Given the description of an element on the screen output the (x, y) to click on. 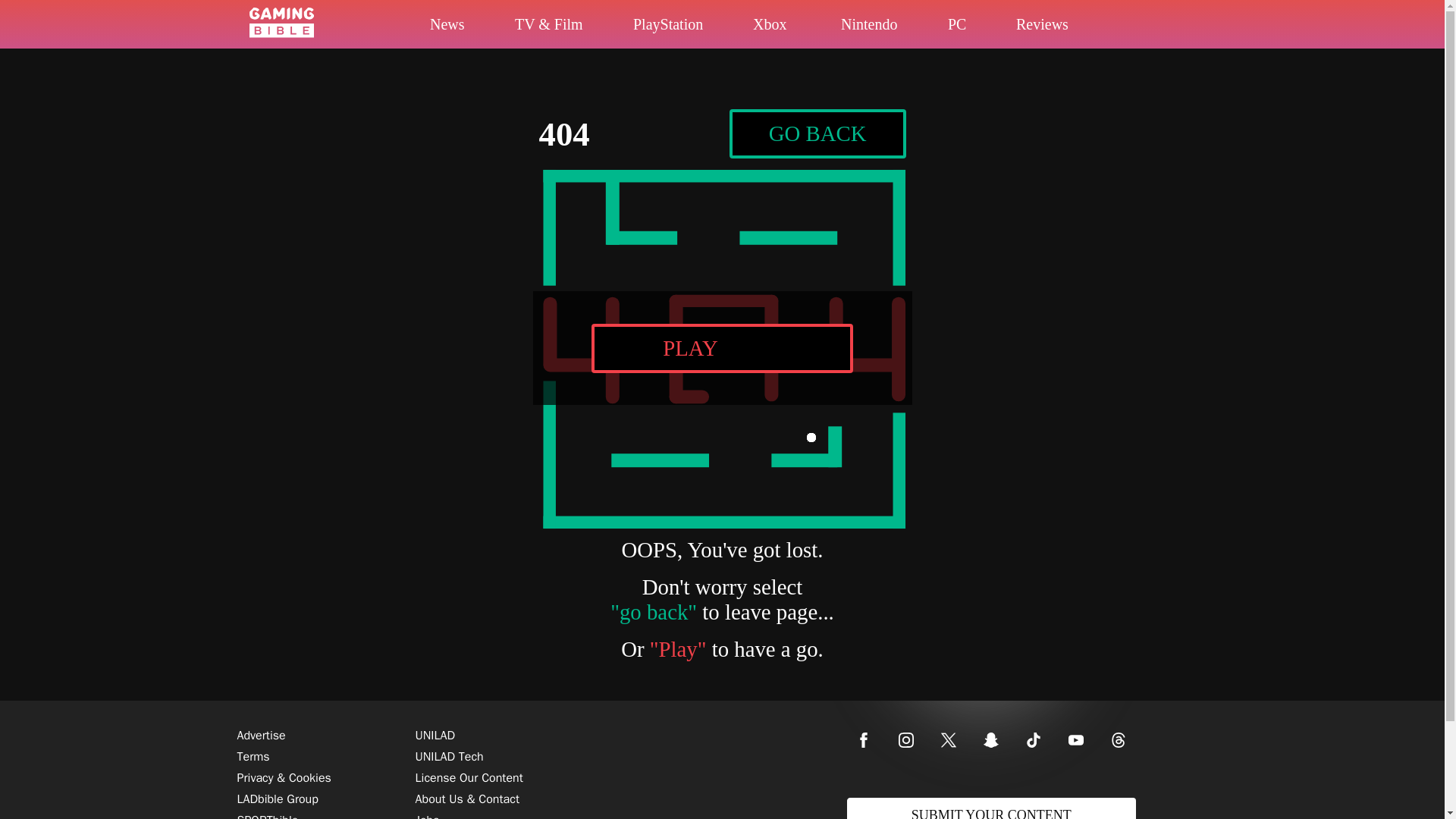
License Our Content (468, 777)
SPORTbible (266, 811)
Jobs (721, 133)
UNILAD (426, 811)
Xbox (434, 735)
LADbible Group (788, 31)
GO BACK (276, 798)
Advertise (817, 133)
PLAY (260, 735)
Terms (722, 347)
PlayStation (252, 756)
News (703, 30)
PC (468, 27)
Nintendo (966, 32)
